Given the description of an element on the screen output the (x, y) to click on. 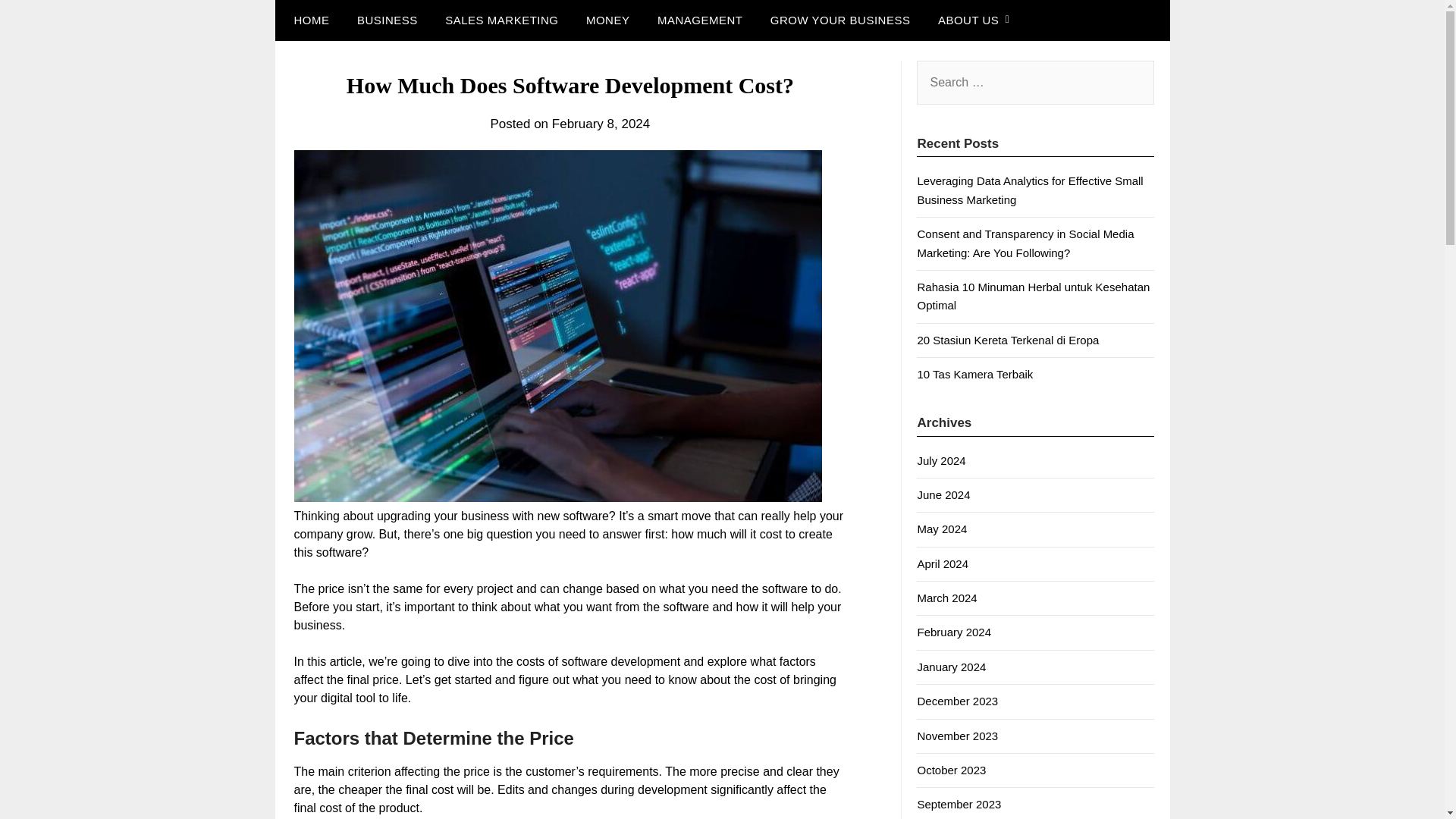
June 2024 (943, 494)
May 2024 (941, 528)
SALES MARKETING (501, 20)
20 Stasiun Kereta Terkenal di Eropa (1008, 339)
ABOUT US (968, 20)
December 2023 (957, 700)
Search (38, 22)
MANAGEMENT (700, 20)
MONEY (607, 20)
November 2023 (957, 735)
October 2023 (951, 769)
July 2024 (941, 460)
Rahasia 10 Minuman Herbal untuk Kesehatan Optimal (1033, 296)
HOME (307, 20)
